Given the description of an element on the screen output the (x, y) to click on. 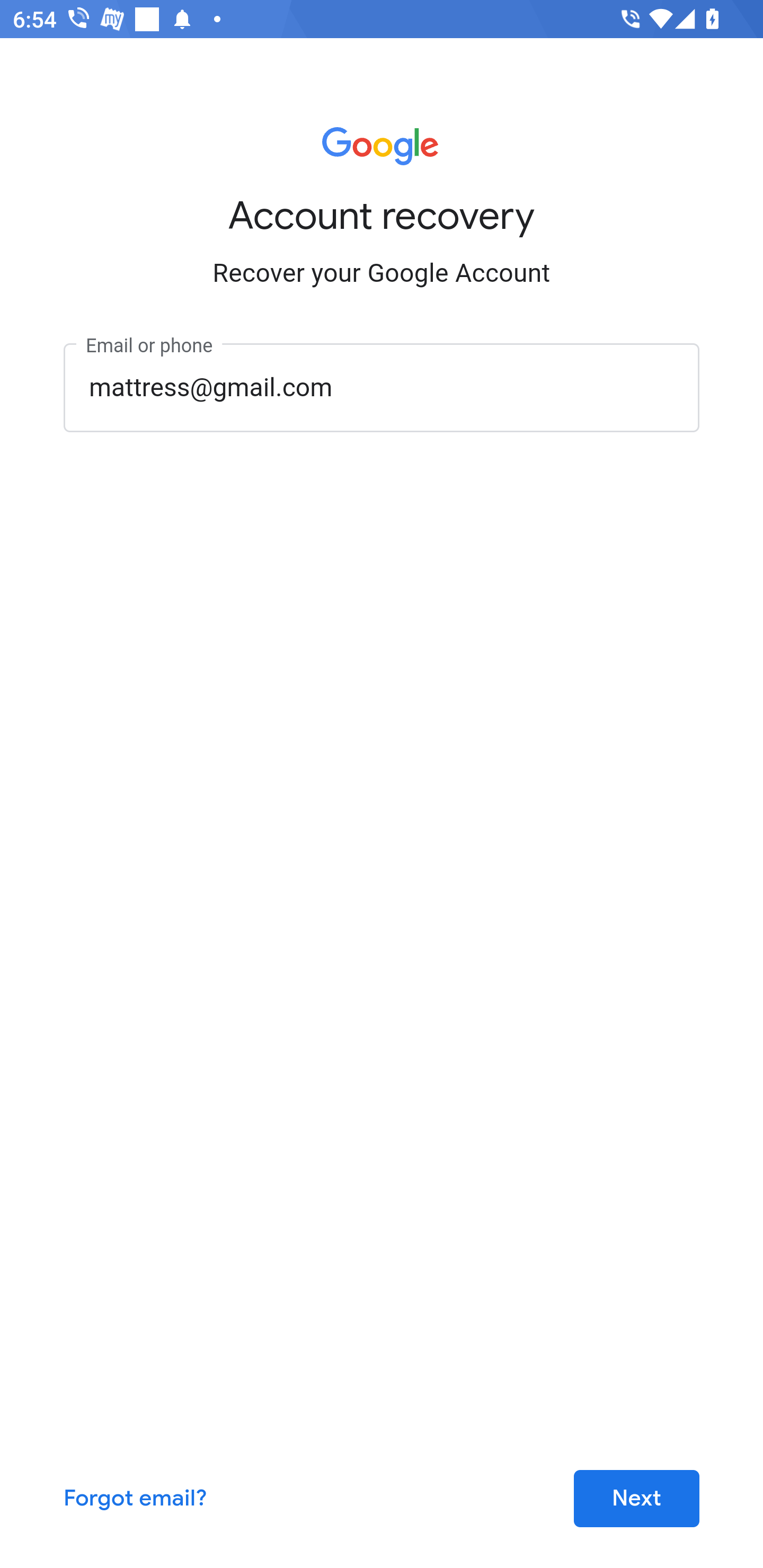
mattress@gmail.com (381, 387)
Forgot email? (136, 1498)
Next (635, 1498)
